Given the description of an element on the screen output the (x, y) to click on. 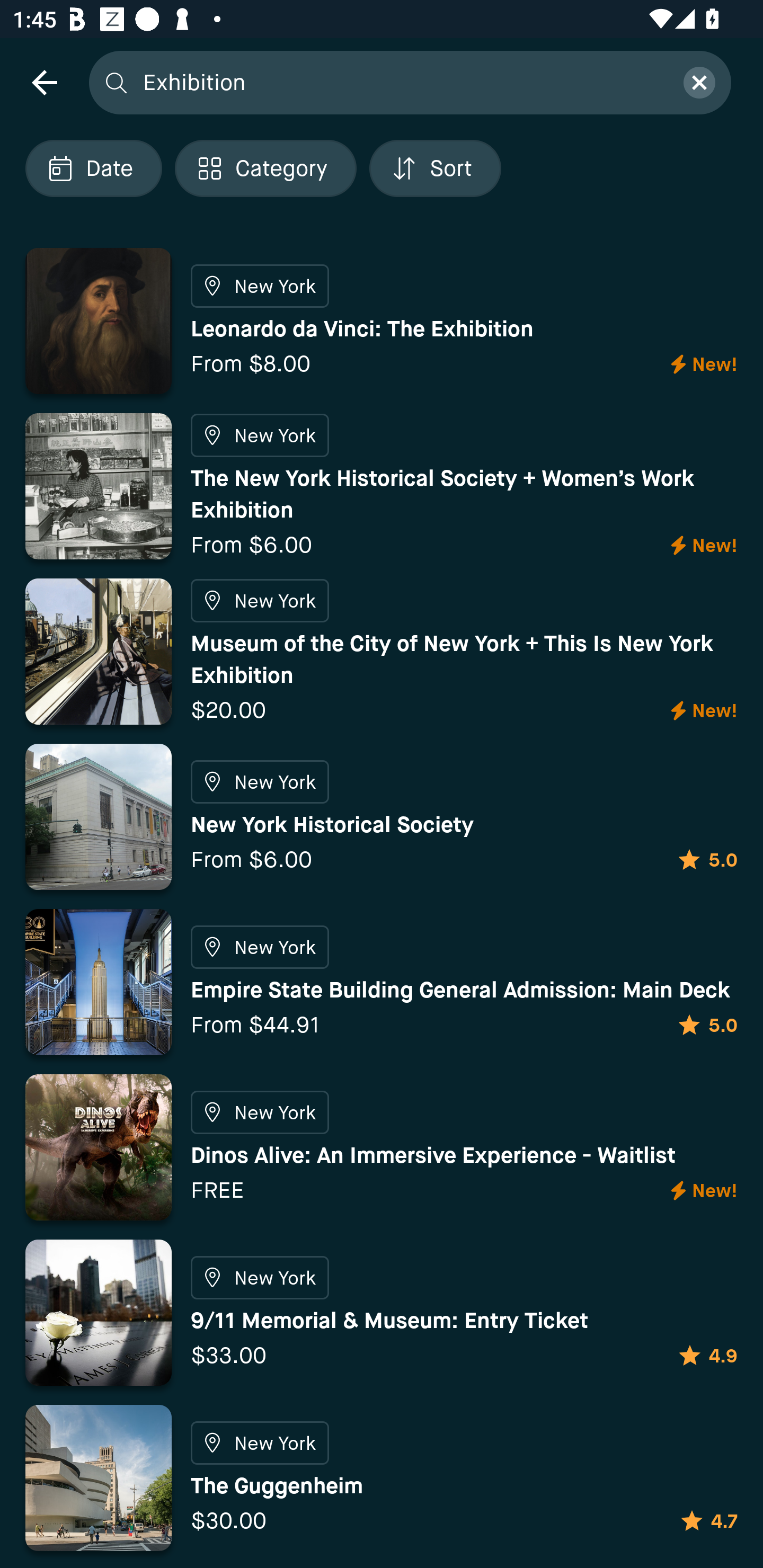
navigation icon (44, 81)
Exhibition (402, 81)
Localized description Date (93, 168)
Localized description Category (265, 168)
Localized description Sort (435, 168)
